Given the description of an element on the screen output the (x, y) to click on. 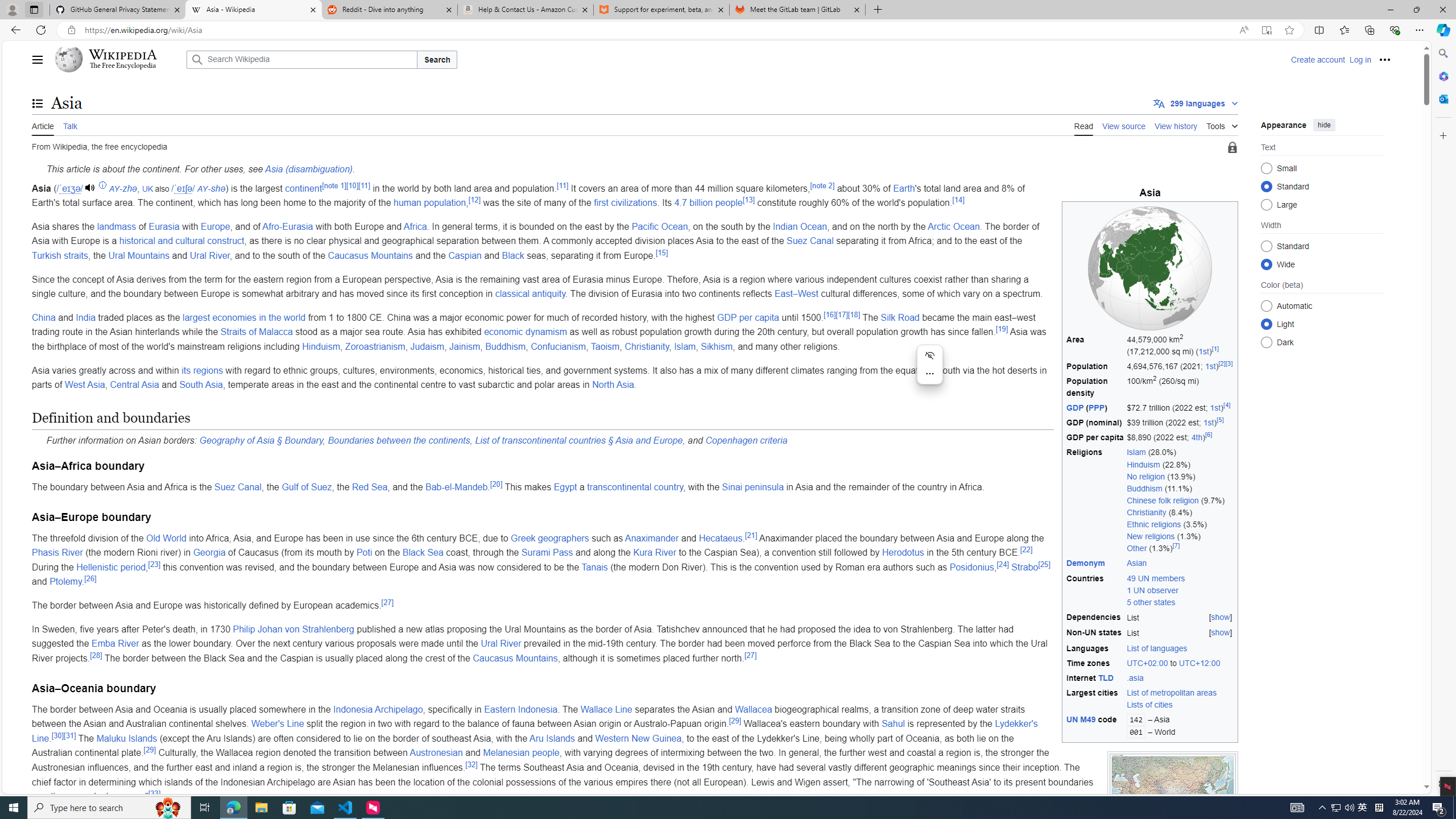
[show] List (1179, 633)
Ethnic religions (1153, 524)
View source (1123, 124)
Light (1266, 323)
[3] (1228, 363)
Create account (1317, 58)
49 UN members 1 UN observer 5 other states (1179, 590)
[12] (473, 198)
Bab-el-Mandeb (456, 486)
Hinduism (22.8%) (1180, 464)
